Given the description of an element on the screen output the (x, y) to click on. 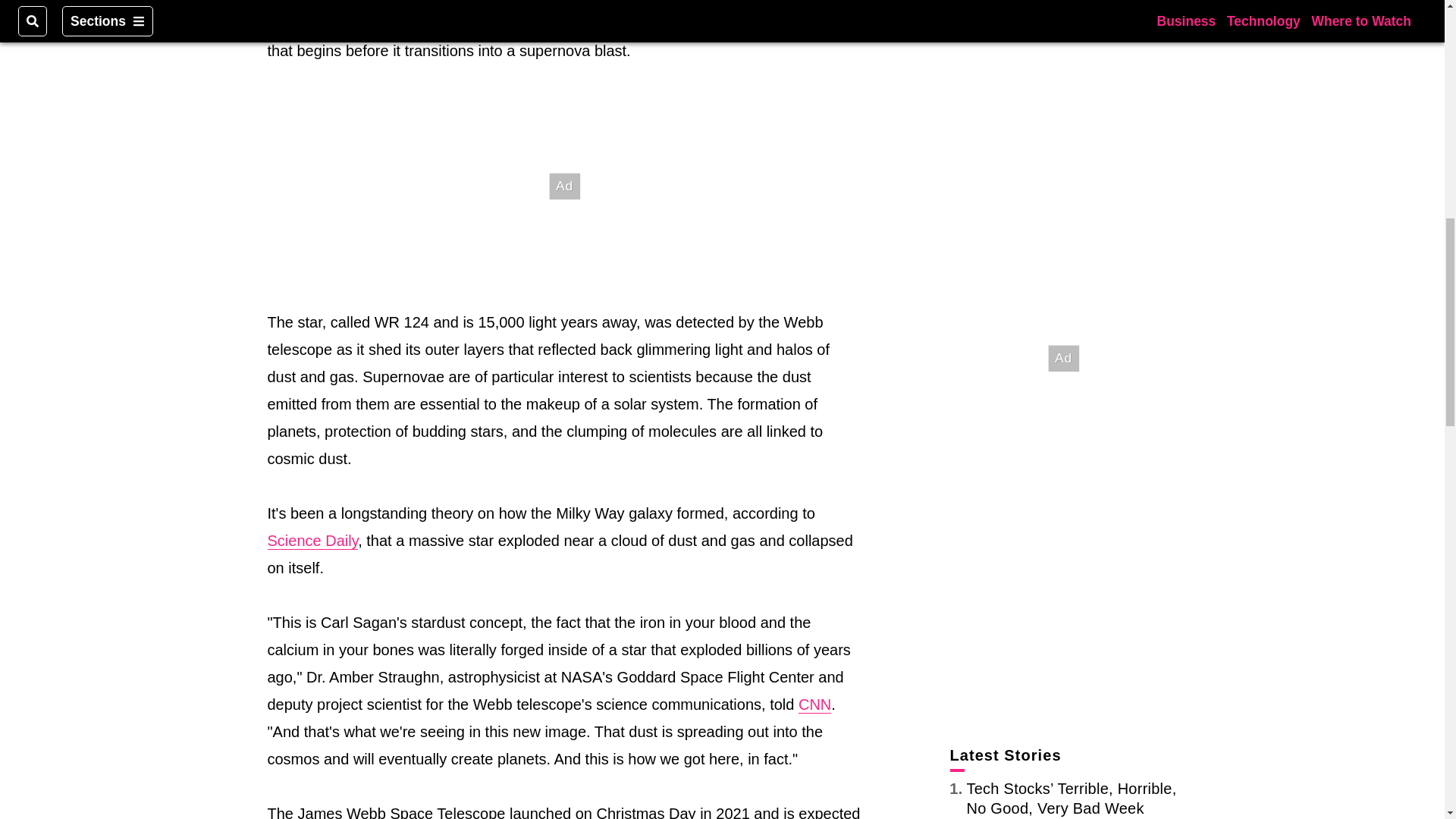
discovery (494, 2)
CNN (814, 704)
Science Daily (312, 540)
